Given the description of an element on the screen output the (x, y) to click on. 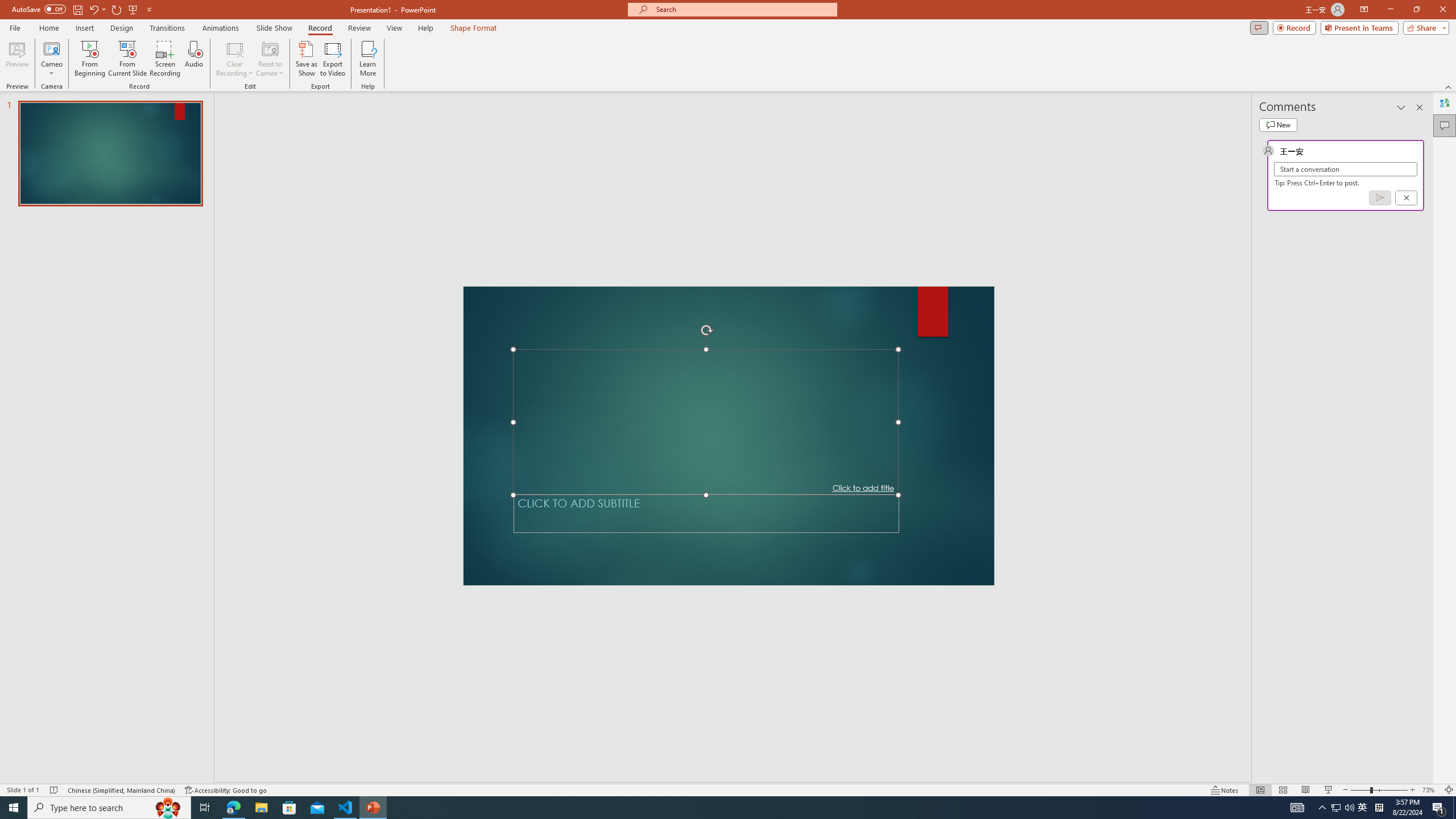
Title TextBox (705, 421)
Clear Recording (234, 58)
Accessibility Checker Accessibility: Good to go (226, 790)
